Given the description of an element on the screen output the (x, y) to click on. 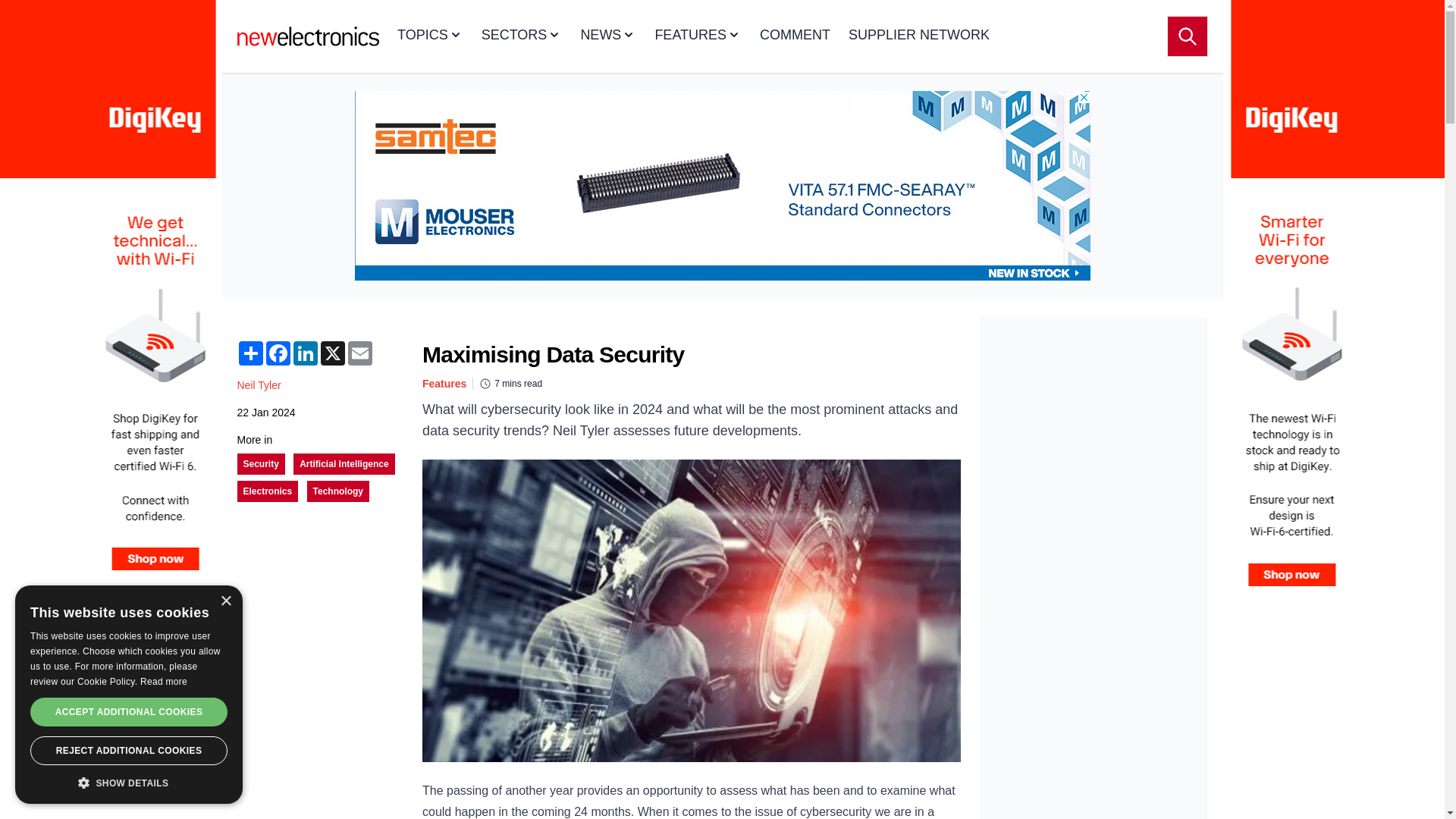
3rd party ad content (1093, 411)
NEWS (607, 36)
SECTORS (521, 36)
TOPICS (430, 36)
